Given the description of an element on the screen output the (x, y) to click on. 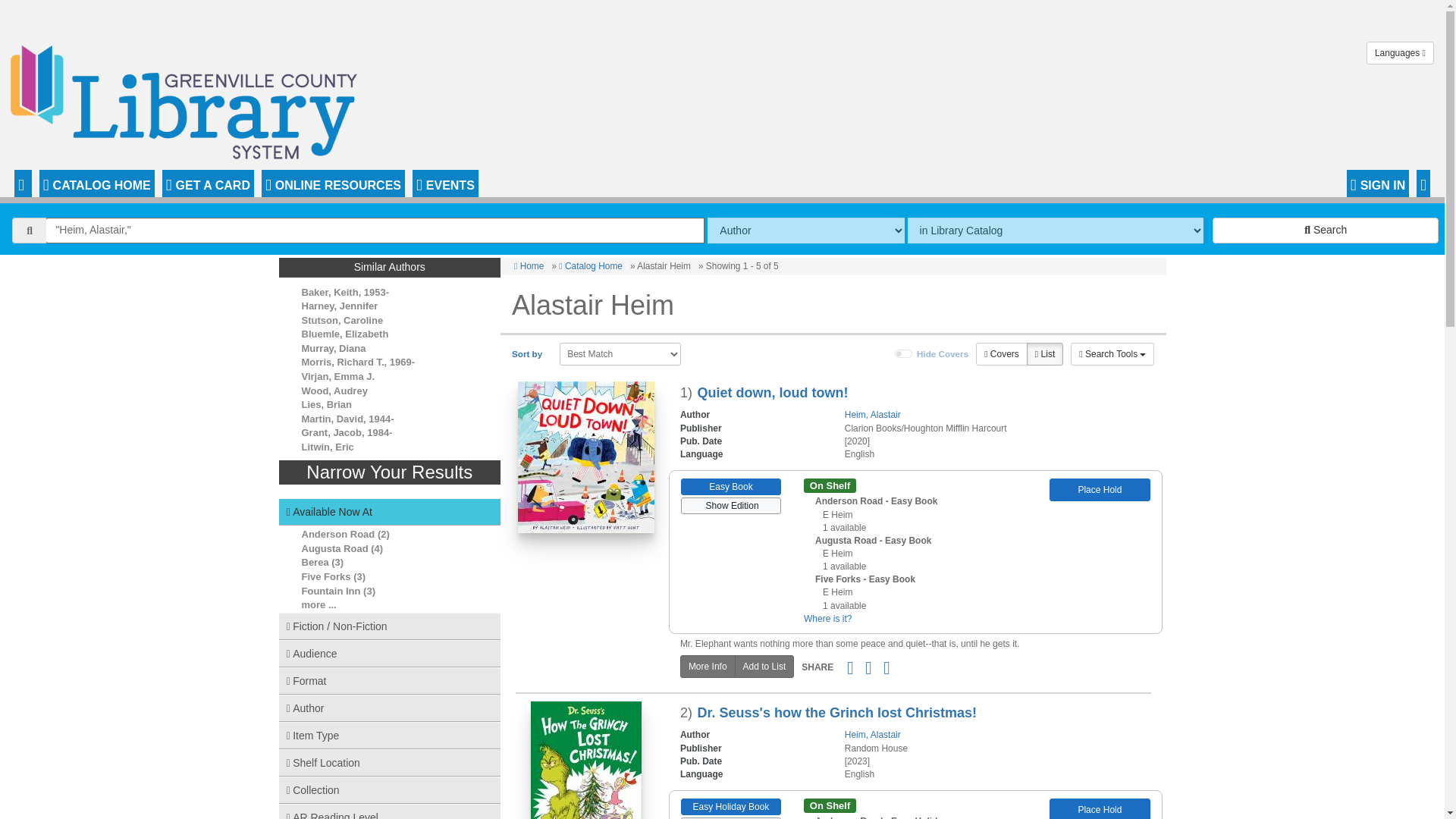
Baker, Keith, 1953- (345, 292)
on (903, 353)
SIGN IN (1377, 183)
Murray, Diana (333, 348)
Library Home Page (187, 97)
Stutson, Caroline (342, 319)
The method of searching. (805, 230)
"Heim, Alastair," (375, 230)
Martin, David, 1944- (347, 419)
